Given the description of an element on the screen output the (x, y) to click on. 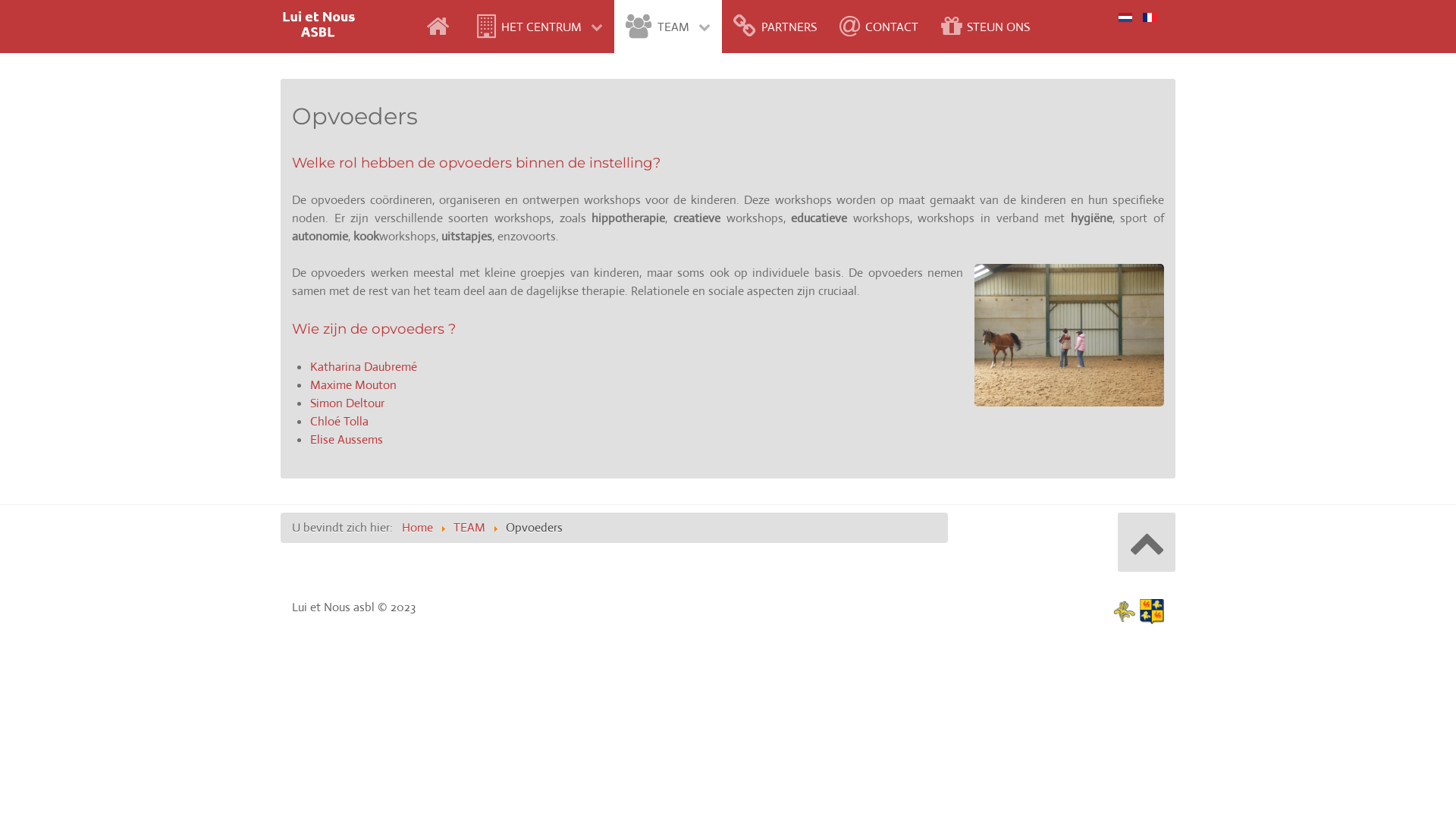
Home Element type: text (417, 527)
Lui et Nous Element type: hover (318, 22)
TEAM Element type: text (469, 527)
TEAM Element type: text (667, 26)
Reconnu par la Cocom Element type: hover (1137, 611)
STEUN ONS Element type: text (985, 26)
Hippotherapie Element type: hover (1069, 334)
Home Element type: hover (439, 26)
PARTNERS Element type: text (774, 26)
HET CENTRUM Element type: text (539, 26)
Nederlands Element type: hover (1125, 16)
CONTACT Element type: text (878, 26)
